Given the description of an element on the screen output the (x, y) to click on. 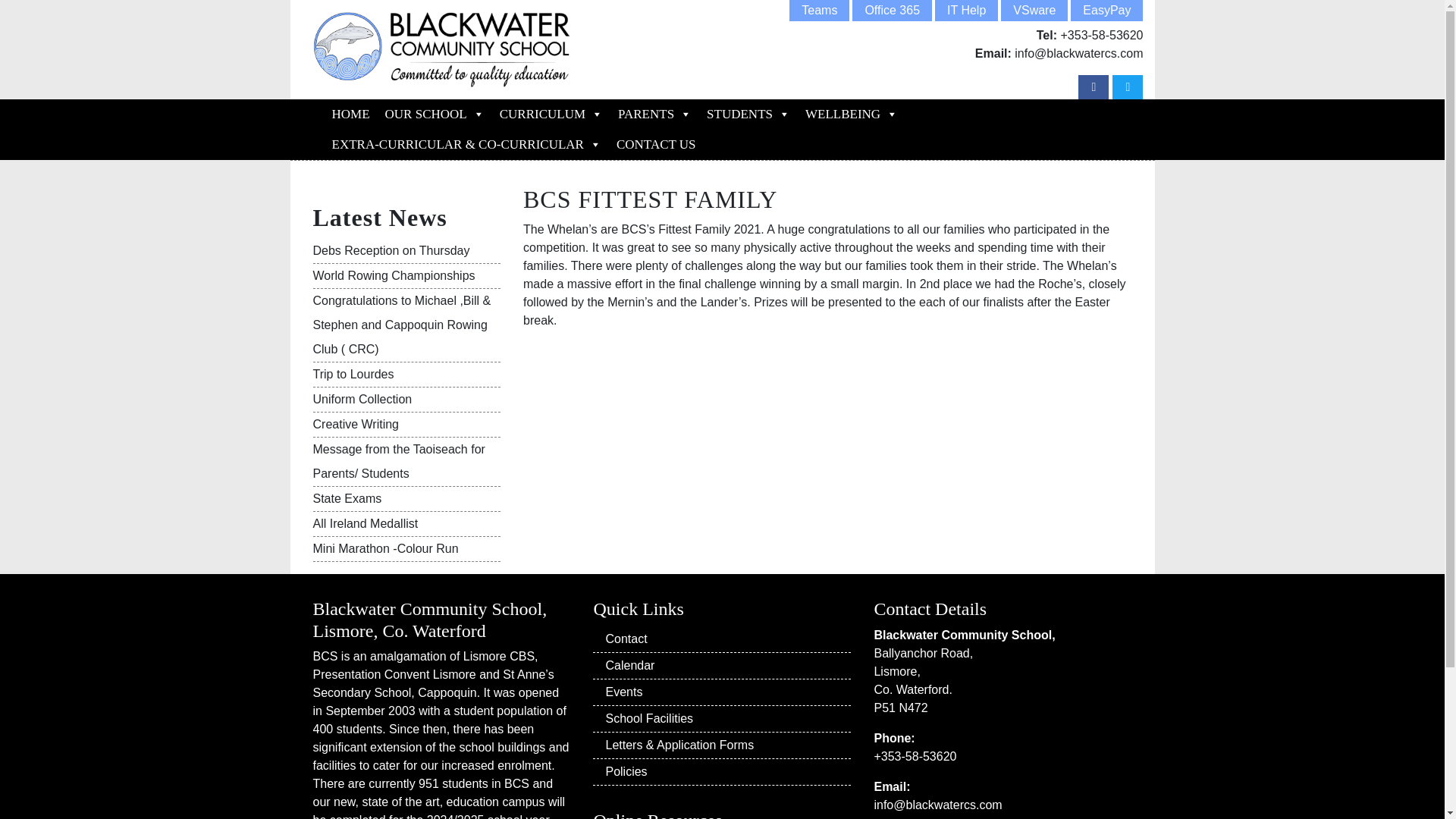
Office 365 (891, 10)
Teams (818, 10)
EasyPay (1106, 10)
STUDENTS (747, 114)
OUR SCHOOL (434, 114)
HOME (350, 114)
CURRICULUM (551, 114)
VSware (1034, 10)
PARENTS (654, 114)
IT Help (965, 10)
